Given the description of an element on the screen output the (x, y) to click on. 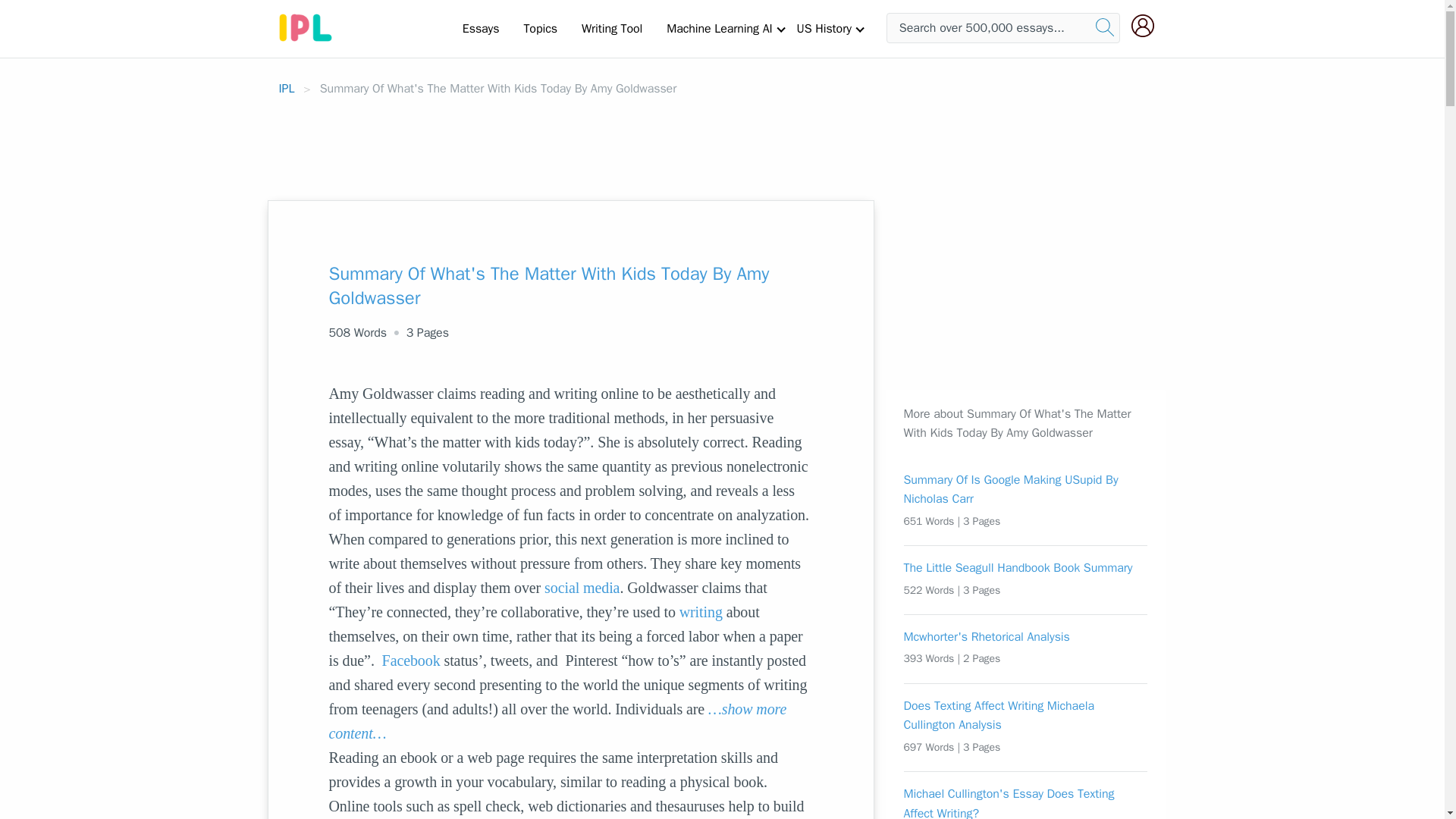
Essays (480, 28)
Machine Learning AI (718, 28)
Topics (540, 28)
US History (823, 28)
IPL (287, 88)
Facebook (411, 660)
writing (700, 611)
Writing Tool (611, 28)
social media (582, 587)
